Given the description of an element on the screen output the (x, y) to click on. 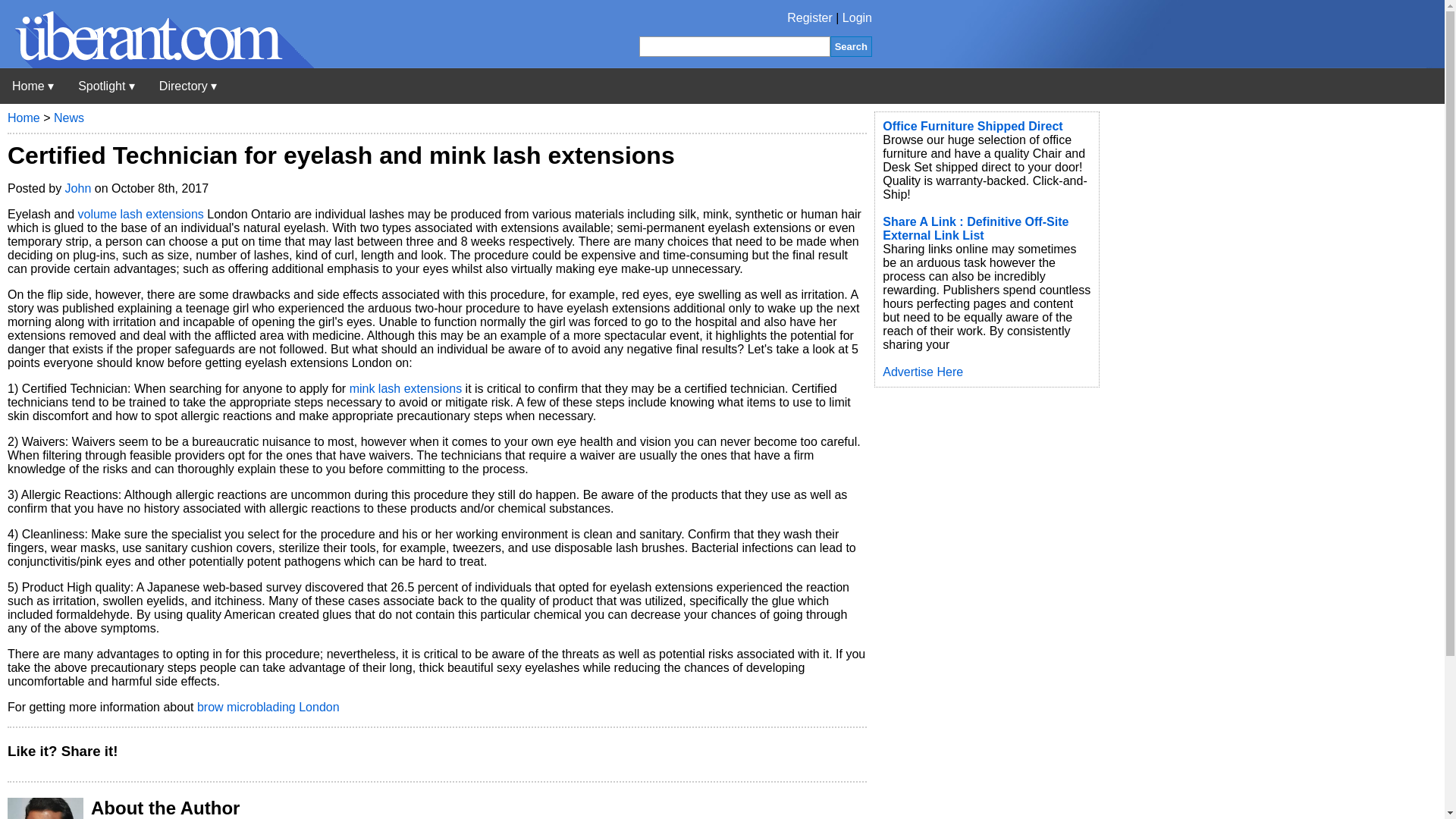
Login (857, 17)
Uberant (32, 85)
Uberant (157, 63)
Register (809, 17)
Search (850, 46)
Search (850, 46)
